Given the description of an element on the screen output the (x, y) to click on. 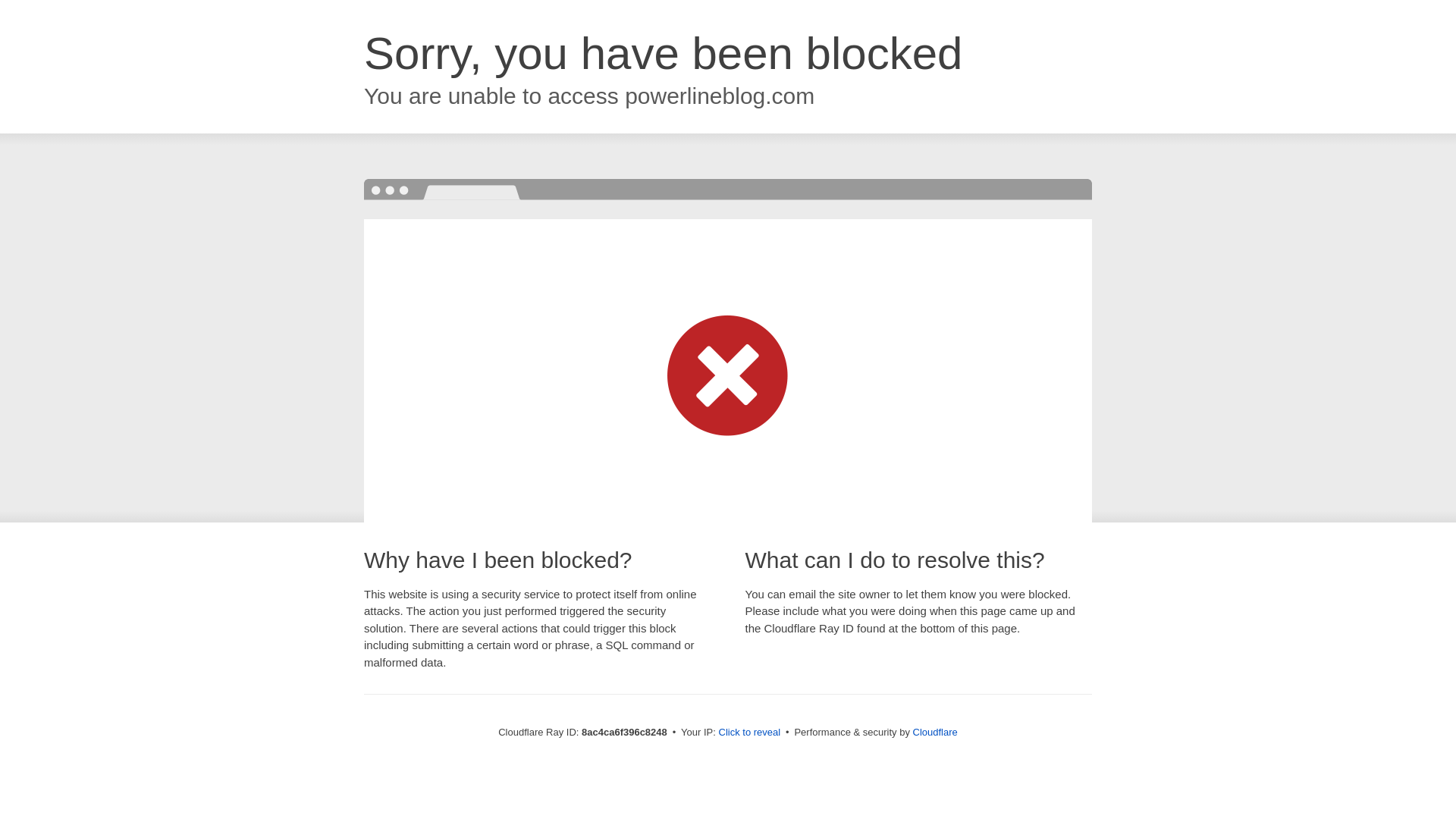
Cloudflare (935, 731)
Click to reveal (749, 732)
